Given the description of an element on the screen output the (x, y) to click on. 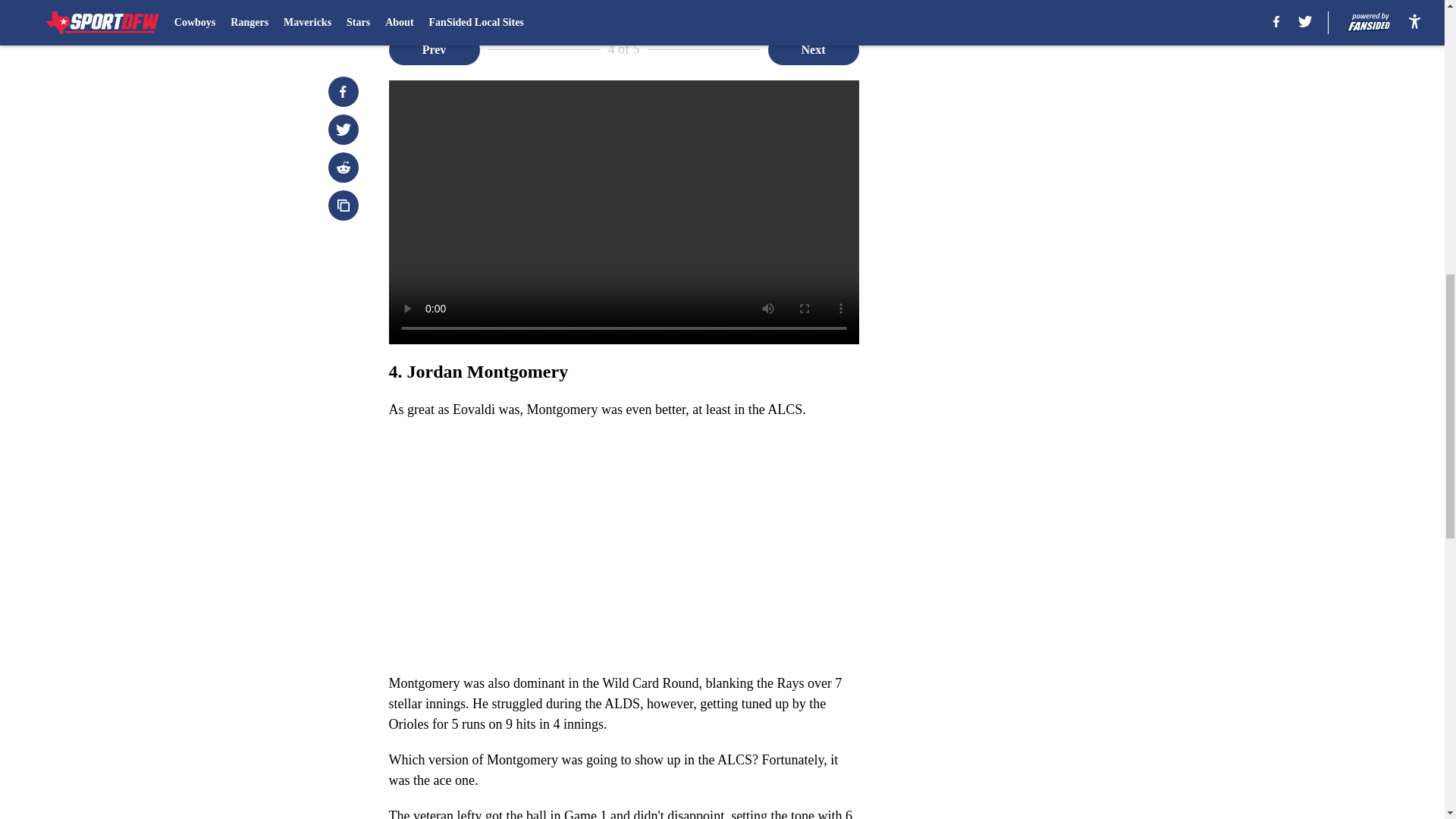
3rd party ad content (1047, 129)
Prev (433, 50)
Next (813, 50)
3rd party ad content (1047, 349)
